Given the description of an element on the screen output the (x, y) to click on. 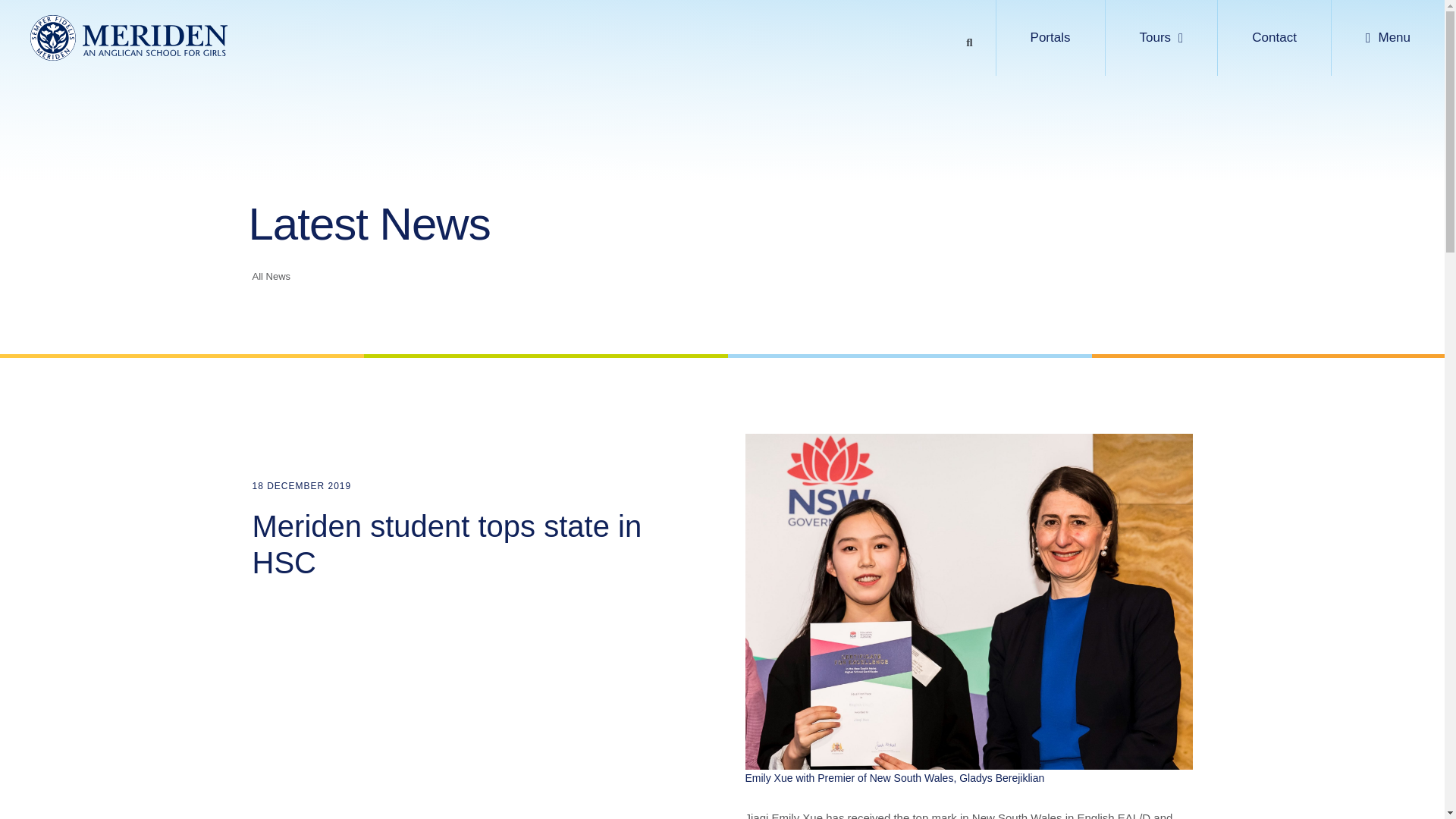
Contact (1274, 38)
Tours (1161, 38)
Portals (1050, 38)
